Given the description of an element on the screen output the (x, y) to click on. 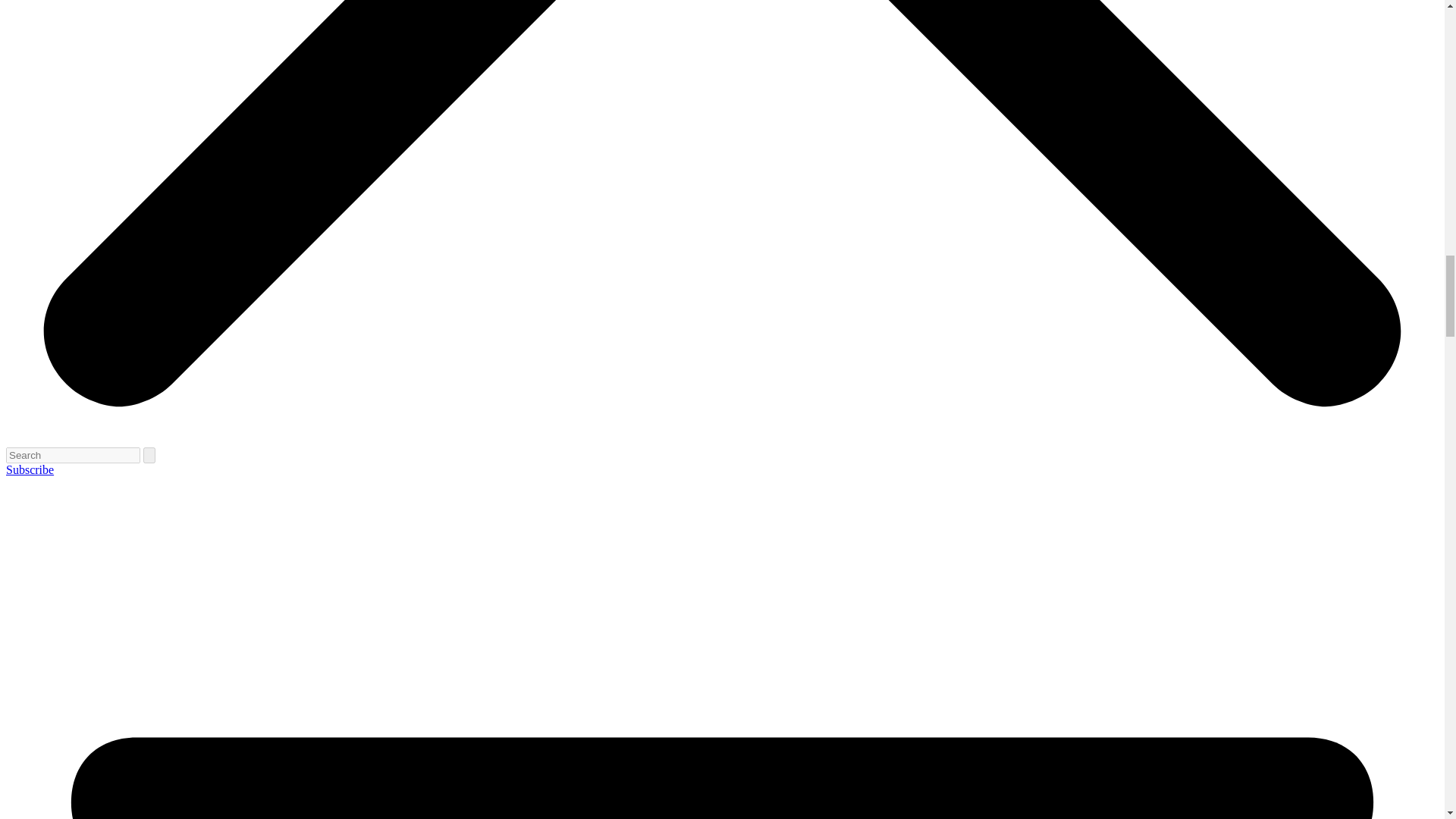
Subscribe (29, 469)
